Given the description of an element on the screen output the (x, y) to click on. 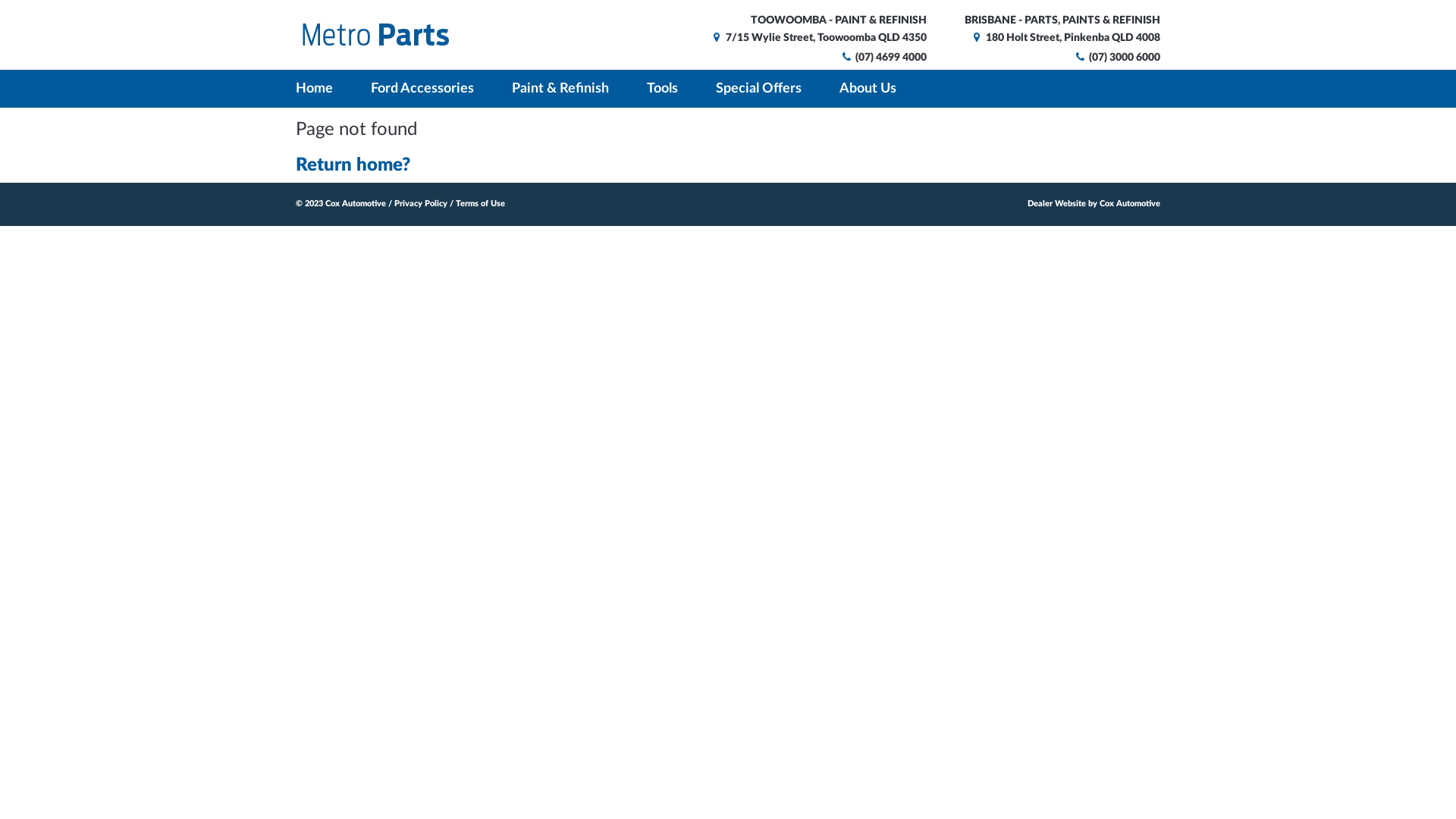
Terms of Use Element type: text (480, 203)
Ford Accessories Element type: text (421, 88)
Tools Element type: text (661, 88)
7/15 Wylie Street, Toowoomba QLD 4350 Element type: text (817, 37)
180 Holt Street, Pinkenba QLD 4008 Element type: text (1064, 37)
Dealer Website Element type: text (1056, 203)
Return home? Element type: text (352, 165)
(07) 4699 4000 Element type: text (882, 57)
(07) 3000 6000 Element type: text (1116, 57)
Paint & Refinish Element type: text (559, 88)
Privacy Policy Element type: text (420, 203)
Home Element type: text (315, 88)
About Us Element type: text (867, 88)
Special Offers Element type: text (758, 88)
